Given the description of an element on the screen output the (x, y) to click on. 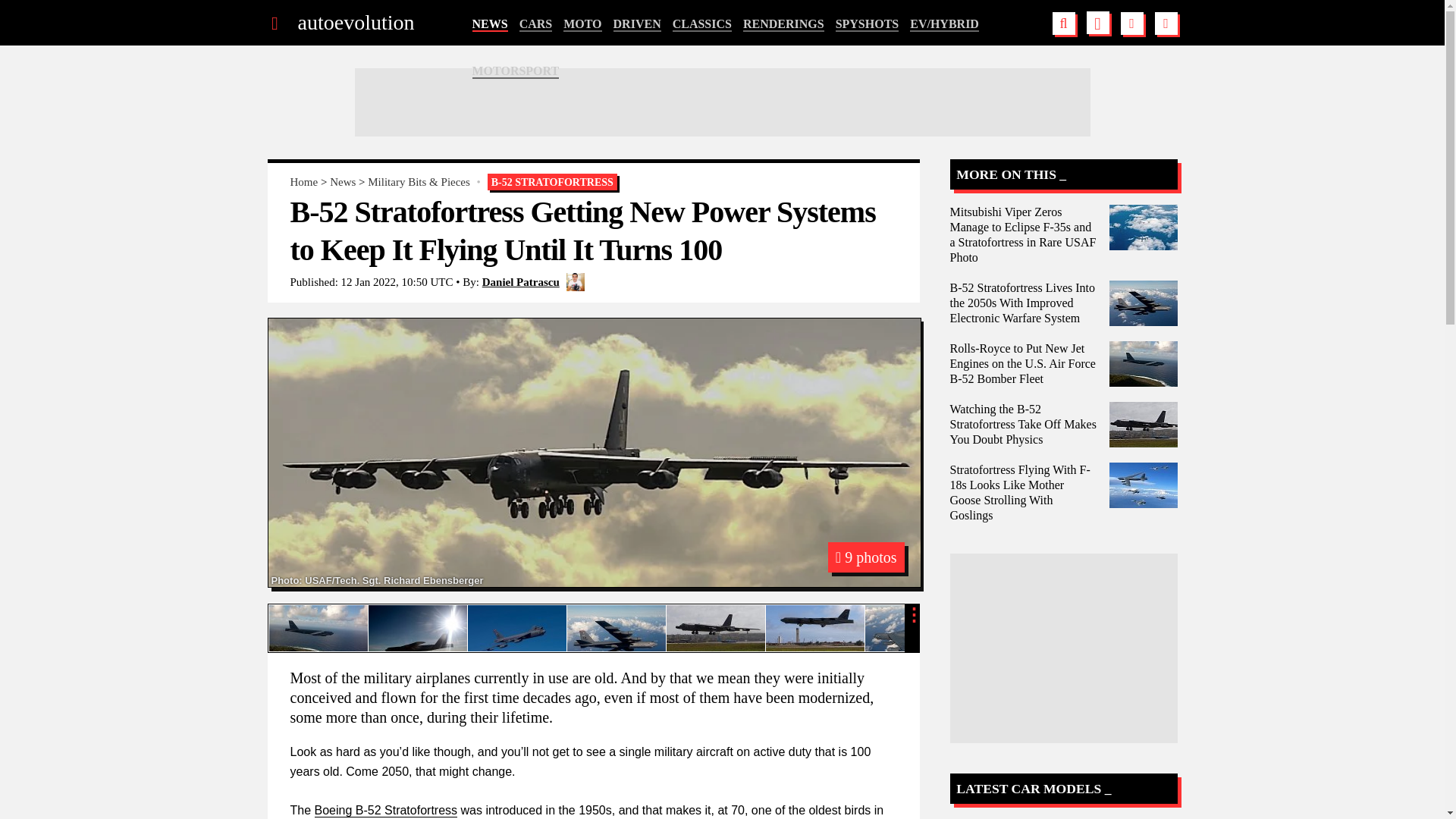
MOTO (582, 24)
autoevolution (355, 22)
autoevolution (355, 22)
News (342, 182)
MOTORSPORT (515, 71)
Home (303, 182)
NEWS (488, 24)
RENDERINGS (783, 24)
DRIVEN (636, 24)
CARS (536, 24)
